Given the description of an element on the screen output the (x, y) to click on. 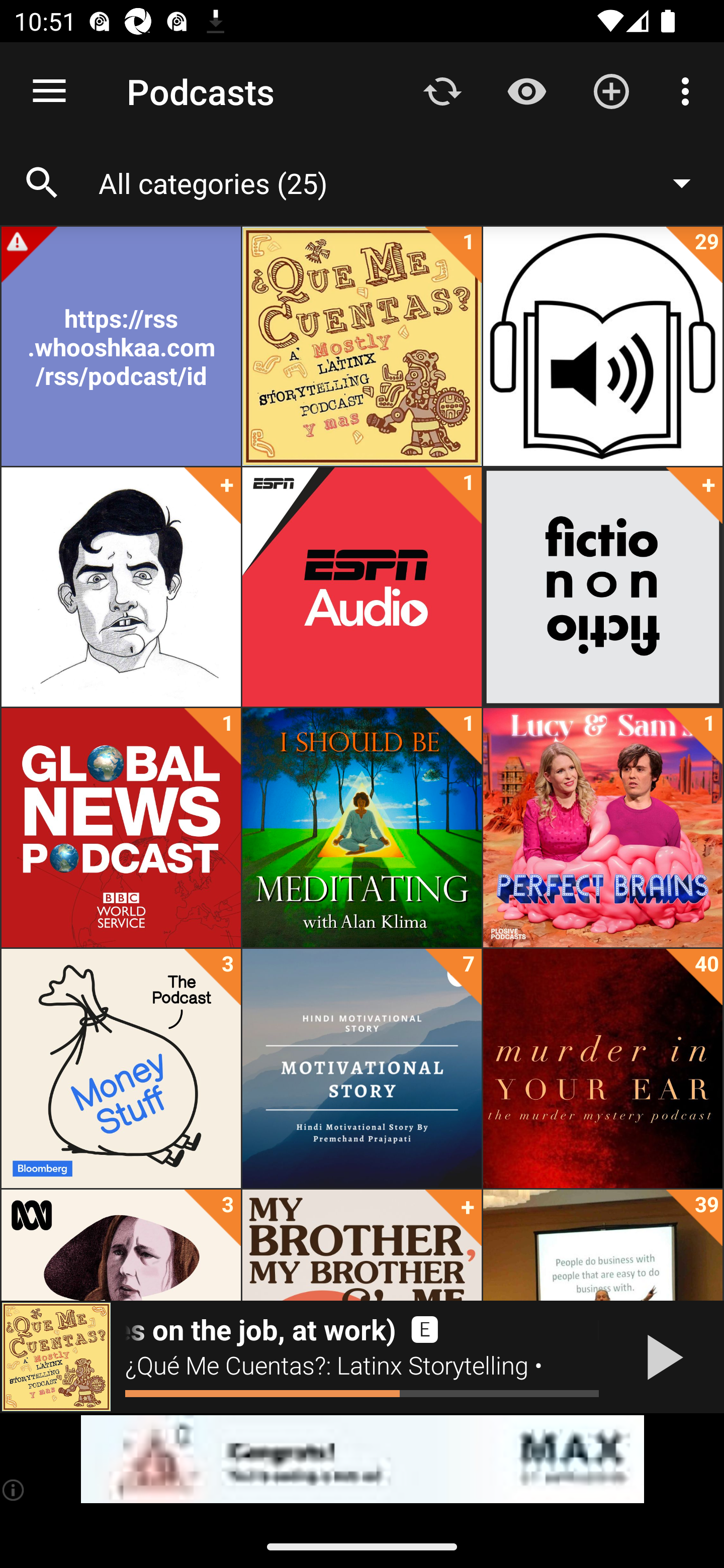
Open navigation sidebar (49, 91)
Update (442, 90)
Show / Hide played content (526, 90)
Add new Podcast (611, 90)
More options (688, 90)
Search (42, 183)
All categories (25) (404, 182)
https://rss.whooshkaa.com/rss/podcast/id/5884 (121, 346)
¿Qué Me Cuentas?: Latinx Storytelling 1 (361, 346)
Audiobooks 29 (602, 346)
Cooking Issues with Dave Arnold + (121, 587)
ESPN Audio 1 (361, 587)
fiction/non/fiction + (602, 587)
Global News Podcast 1 (121, 827)
Lucy & Sam's Perfect Brains 1 (602, 827)
Money Stuff: The Podcast 3 (121, 1068)
Murder In Your Ear-The Murder Mystery Podcast 40 (602, 1068)
Play / Pause (660, 1356)
app-monetization (362, 1459)
(i) (14, 1489)
